Given the description of an element on the screen output the (x, y) to click on. 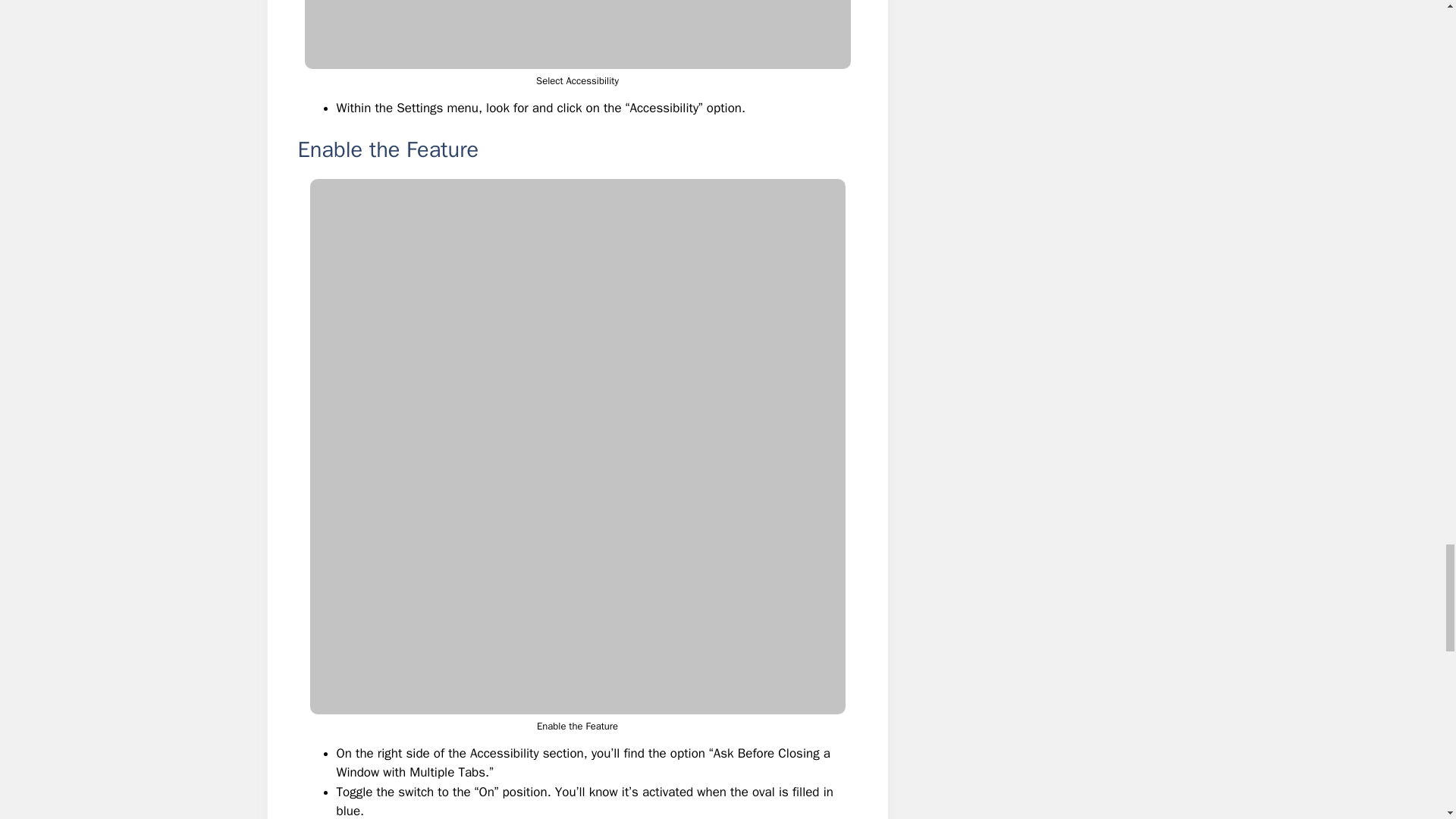
How to Enable "Ask Before Closing All Tabs" 5 (577, 34)
